Given the description of an element on the screen output the (x, y) to click on. 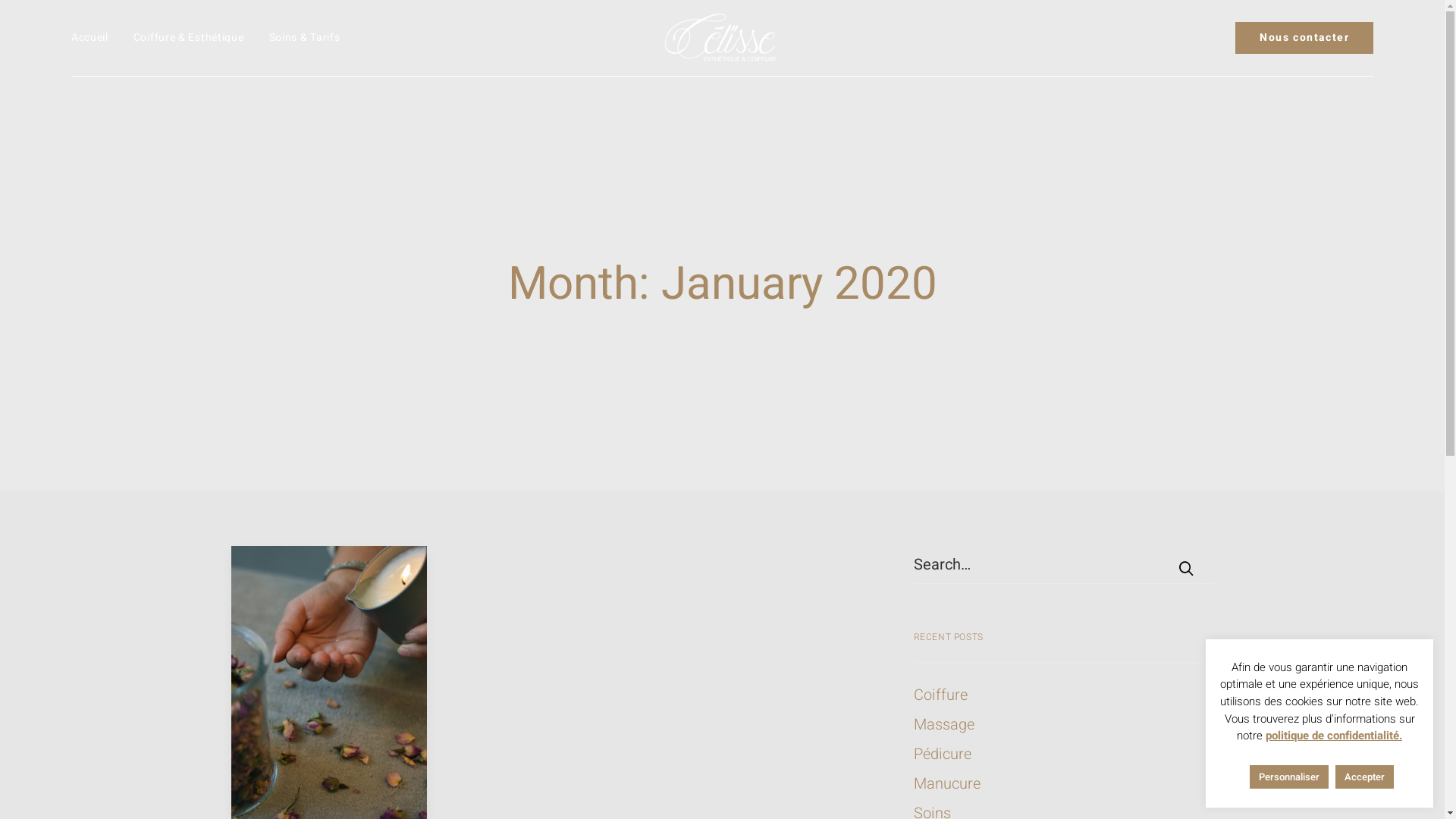
Accepter Element type: text (1363, 776)
Nous contacter Element type: text (1304, 37)
Accueil Element type: text (95, 37)
Manucure Element type: text (1063, 783)
Personnaliser Element type: text (1288, 776)
Soins & Tarifs Element type: text (298, 37)
Massage Element type: text (1063, 724)
Search for: Element type: hover (1063, 564)
Coiffure Element type: text (1063, 695)
